Given the description of an element on the screen output the (x, y) to click on. 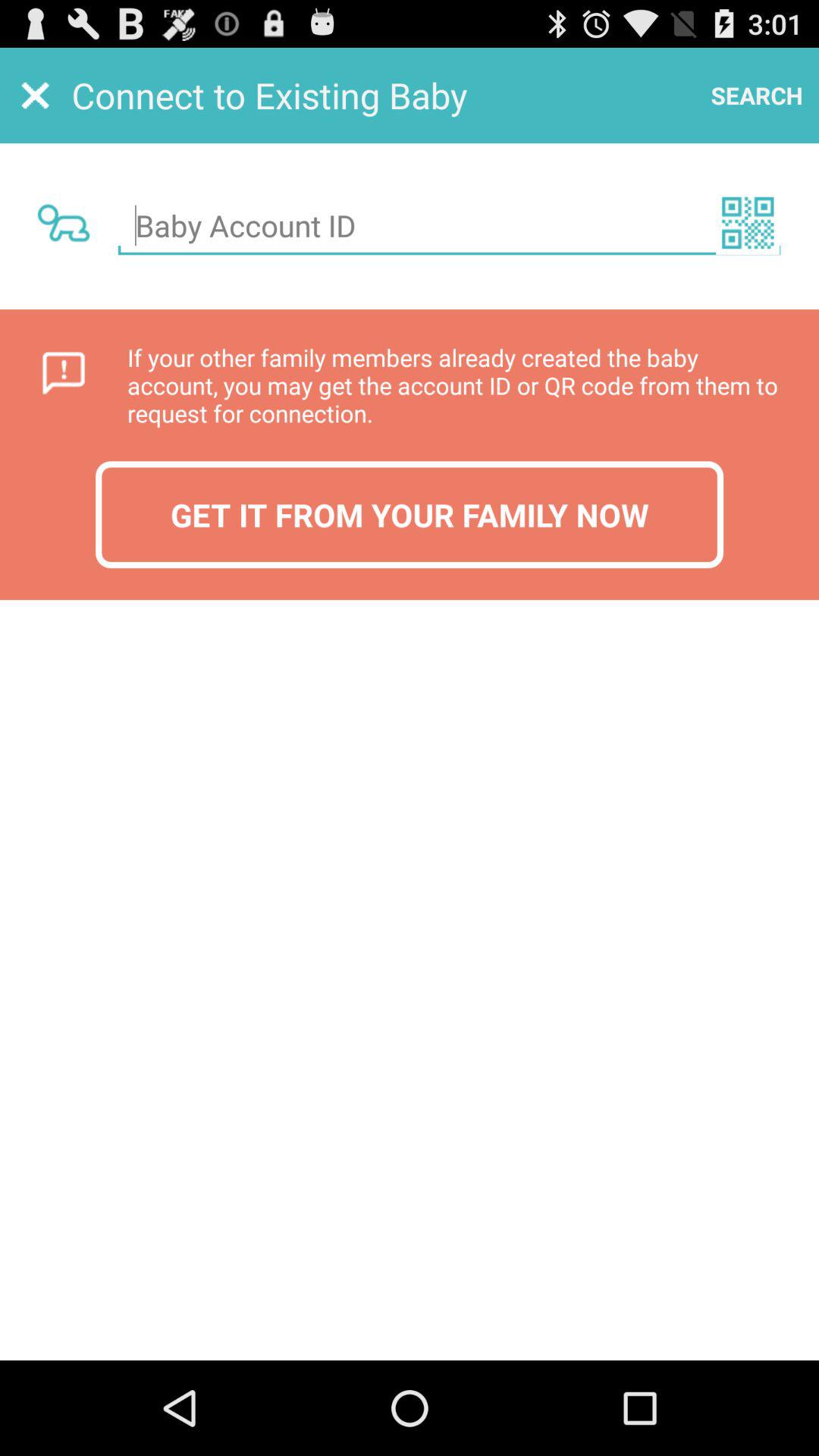
choose icon to the right of the connect to existing item (757, 95)
